Given the description of an element on the screen output the (x, y) to click on. 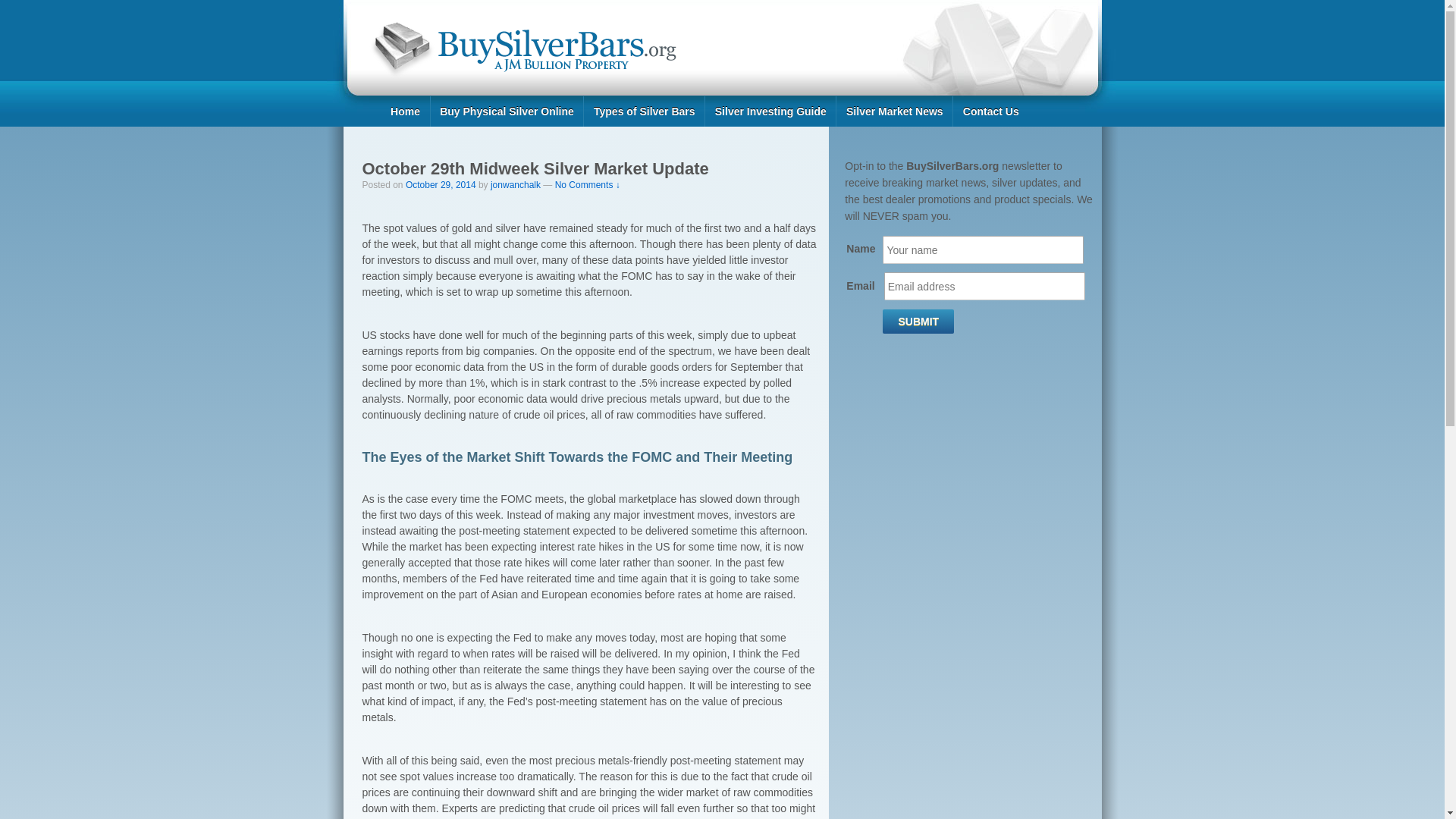
jonwanchalk (515, 184)
SUBMIT (917, 321)
Types of Silver Bars (643, 111)
October 29, 2014 (441, 184)
Buy Physical Silver Online (506, 111)
Silver Market News (893, 111)
Comment on October 29th Midweek Silver Market Update (587, 184)
Silver Investing Guide (769, 111)
View all posts by jonwanchalk (515, 184)
3:47 pm (441, 184)
